Given the description of an element on the screen output the (x, y) to click on. 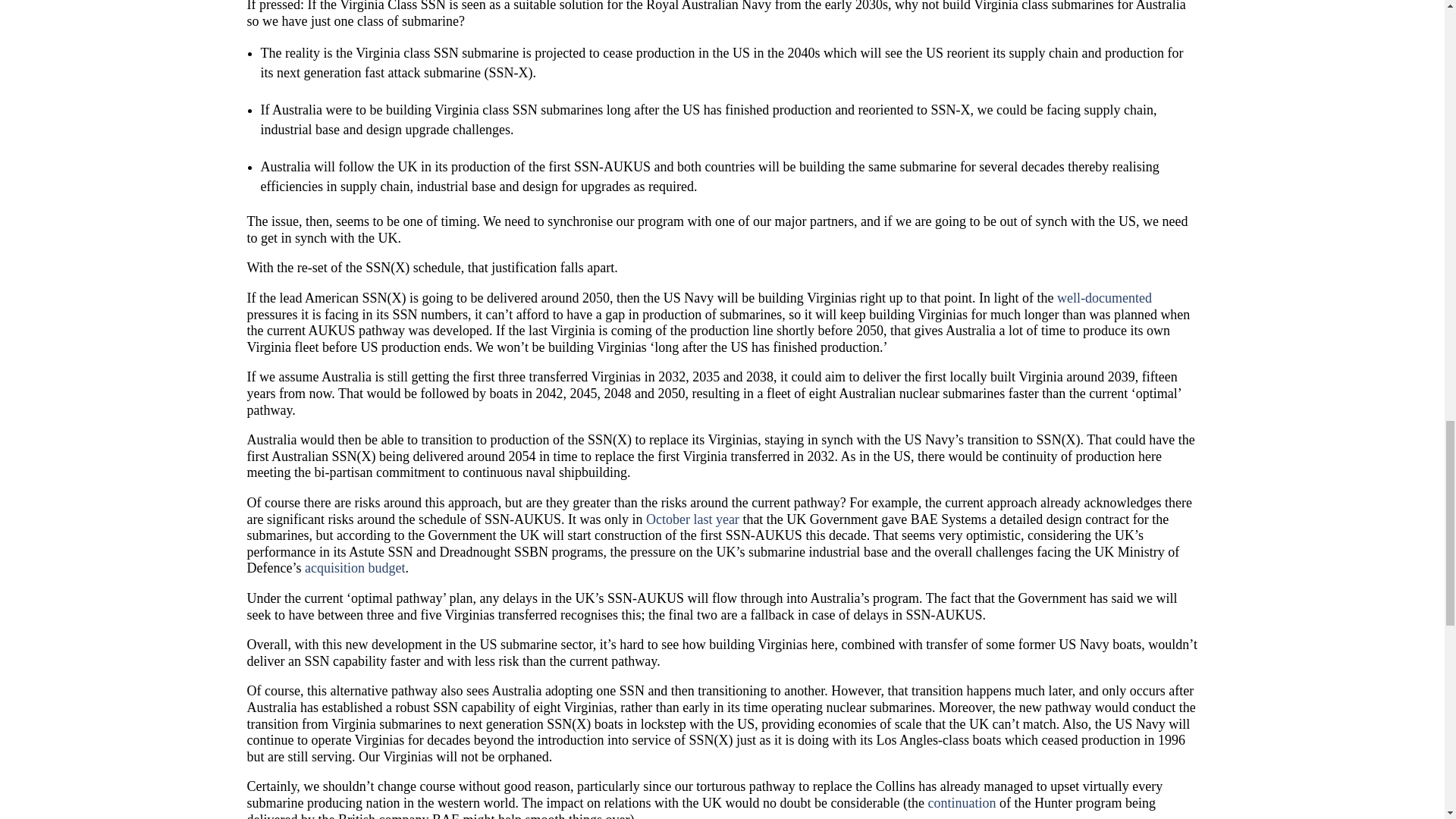
continuation (961, 802)
well-documented (1104, 297)
acquisition budget (354, 567)
October last year (692, 519)
